Given the description of an element on the screen output the (x, y) to click on. 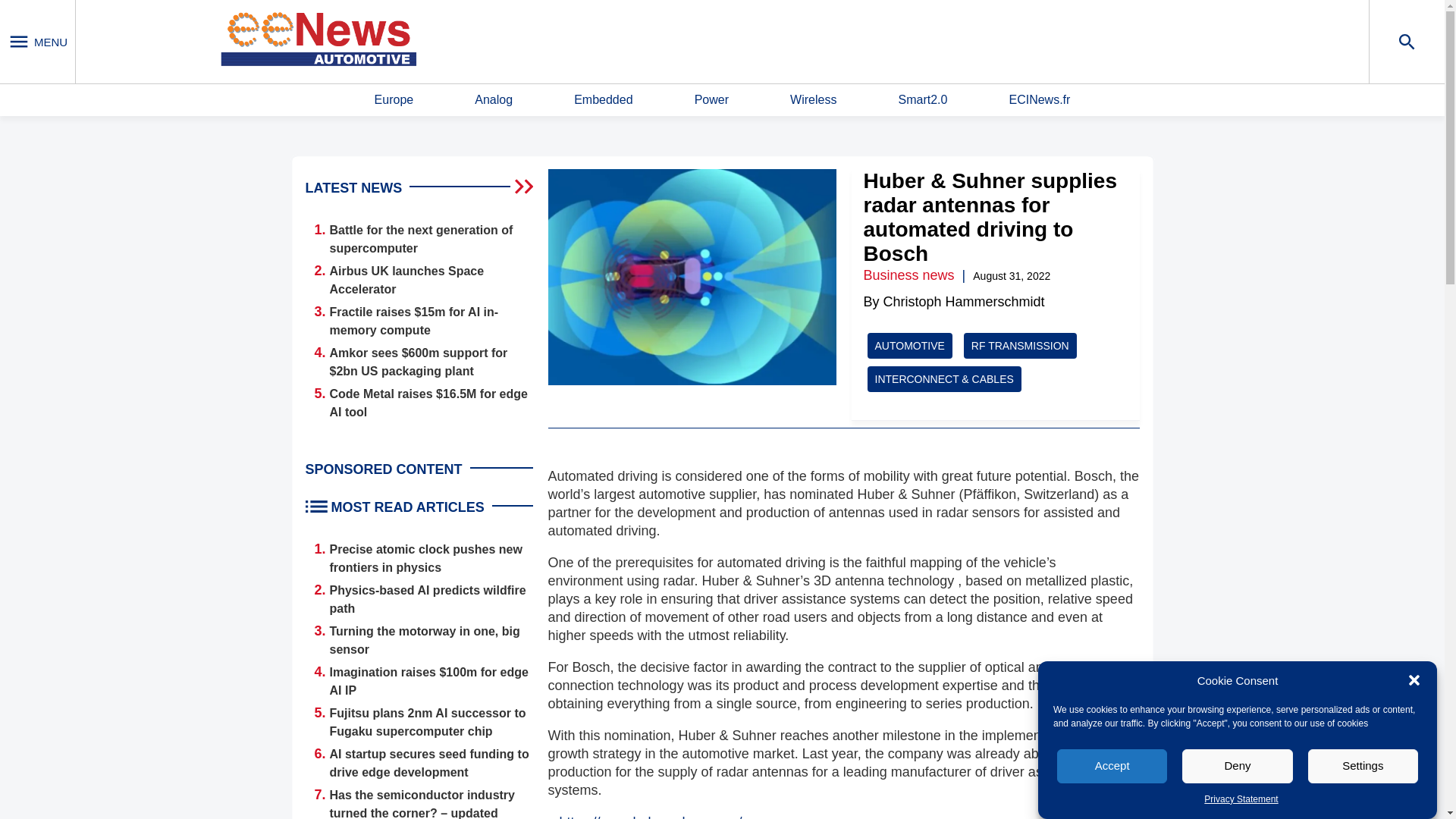
Wireless (812, 99)
Smart2.0 (922, 99)
Analog (493, 99)
Embedded (602, 99)
Europe (393, 99)
ECINews.fr (1039, 99)
Power (711, 99)
